Given the description of an element on the screen output the (x, y) to click on. 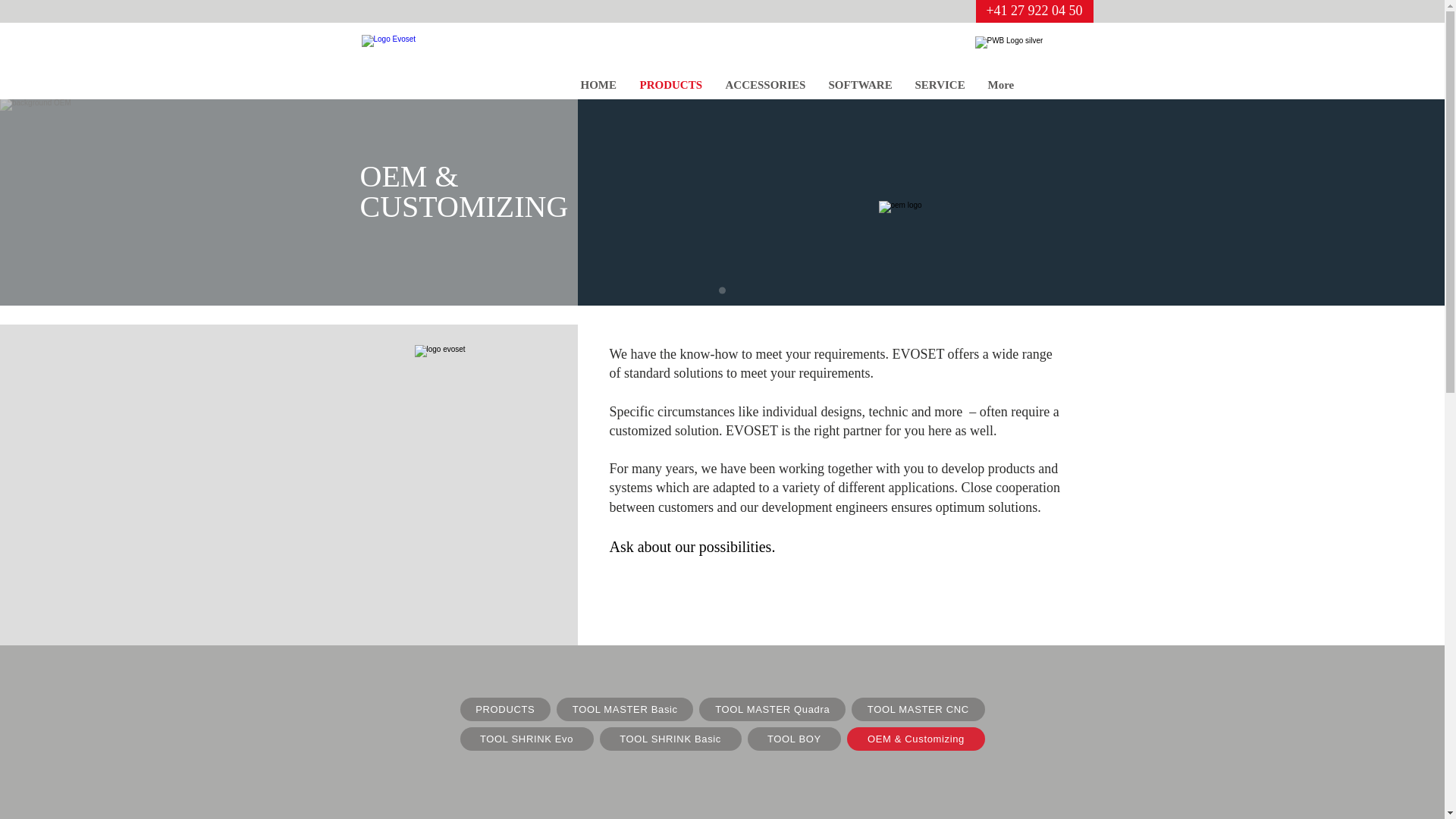
Evoset logo (464, 353)
ACCESSORIES (765, 84)
PRODUCTS (670, 84)
SOFTWARE (860, 84)
TOOL MASTER CNC (917, 709)
PWB Logo silver (1030, 45)
TOOL MASTER Basic (624, 709)
TOOL MASTER Quadra (771, 709)
HOME (598, 84)
Logo Evoset (446, 61)
